Given the description of an element on the screen output the (x, y) to click on. 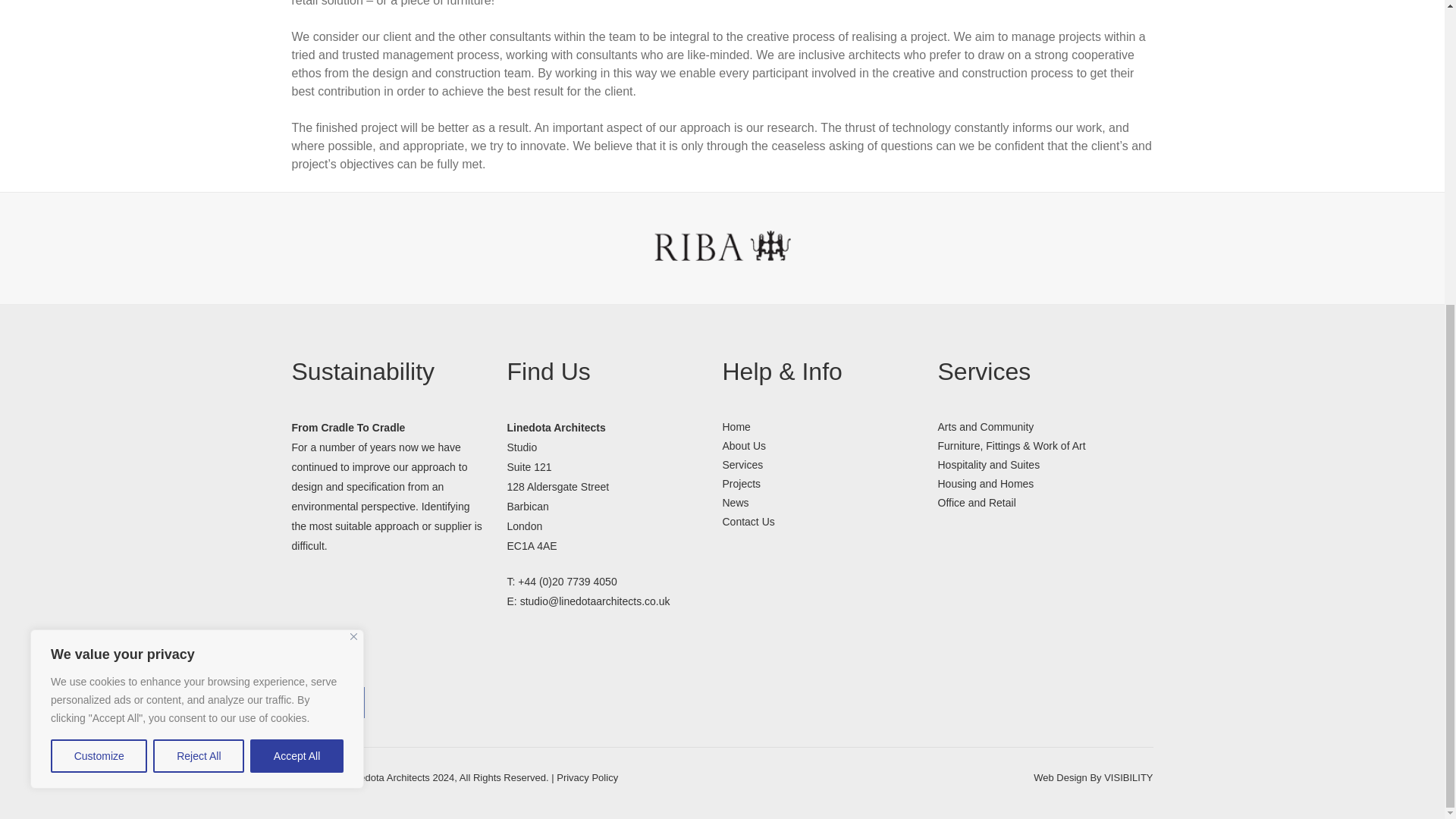
Accept All (296, 277)
Customize (98, 277)
Reject All (198, 277)
Web Design (1128, 777)
